Given the description of an element on the screen output the (x, y) to click on. 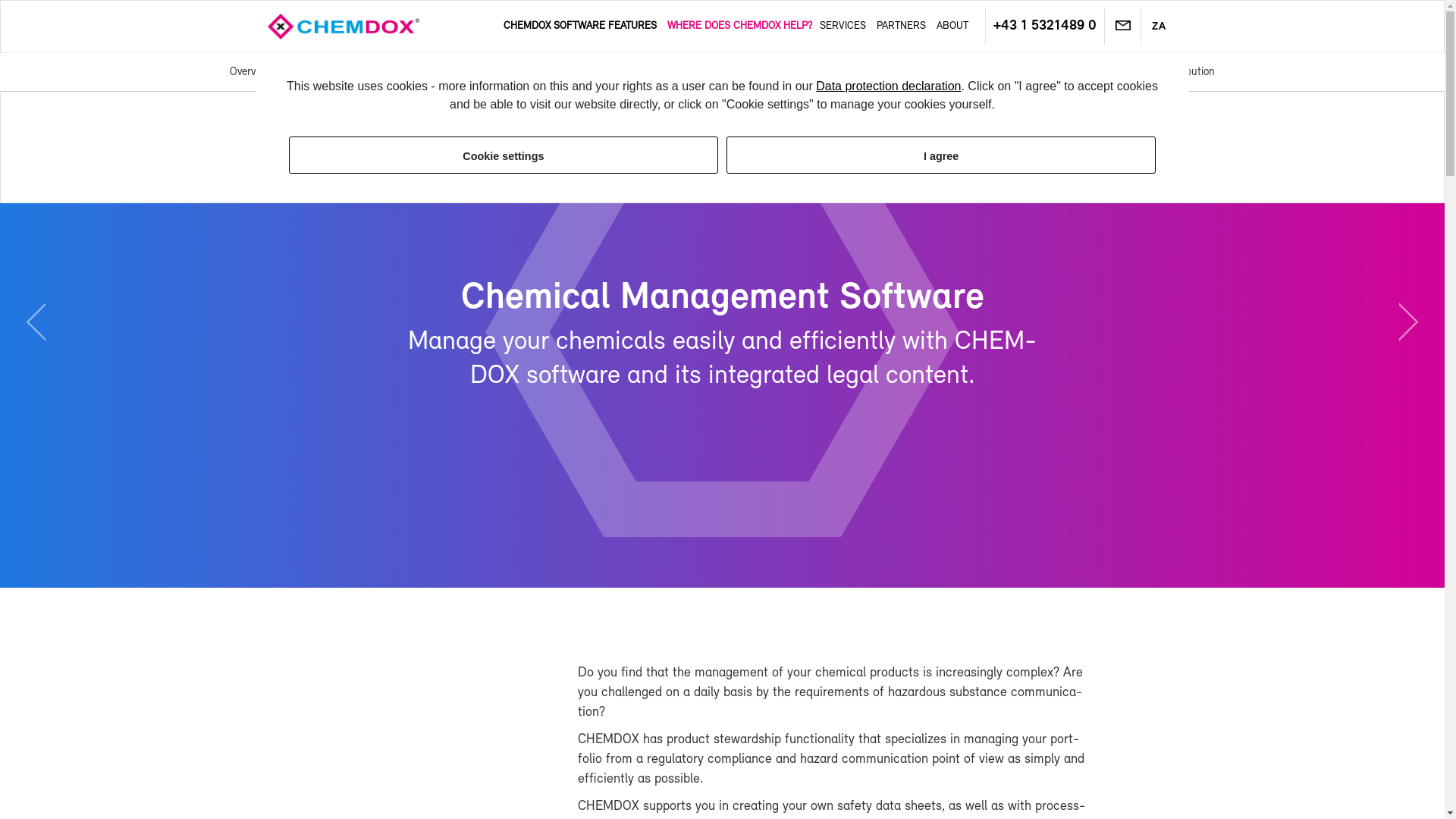
Cookie settings (502, 154)
I agree (941, 154)
Safety Data Sheets - SDS (508, 71)
ZA (1158, 27)
Data protection declaration (887, 85)
Telephone (1044, 26)
Overview (249, 71)
